Given the description of an element on the screen output the (x, y) to click on. 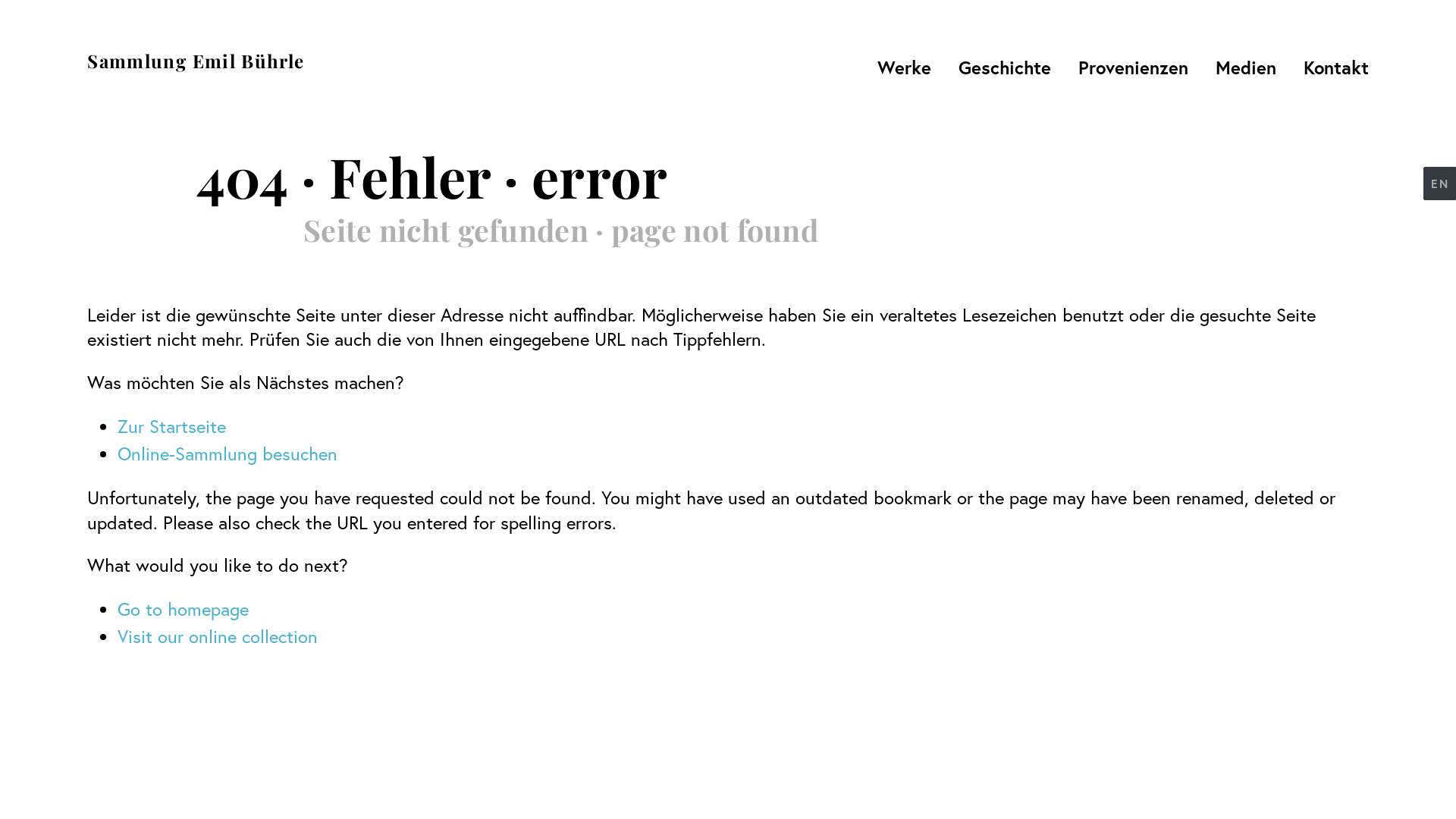
Online-Sammlung besuchen Element type: text (227, 453)
Provenienzen Element type: text (1133, 67)
Visit our online collection Element type: text (217, 636)
Medien Element type: text (1245, 67)
Go to homepage Element type: text (182, 608)
Kontakt Element type: text (1331, 67)
Werke Element type: text (904, 67)
Geschichte Element type: text (1004, 67)
Zur Startseite Element type: text (171, 426)
